Given the description of an element on the screen output the (x, y) to click on. 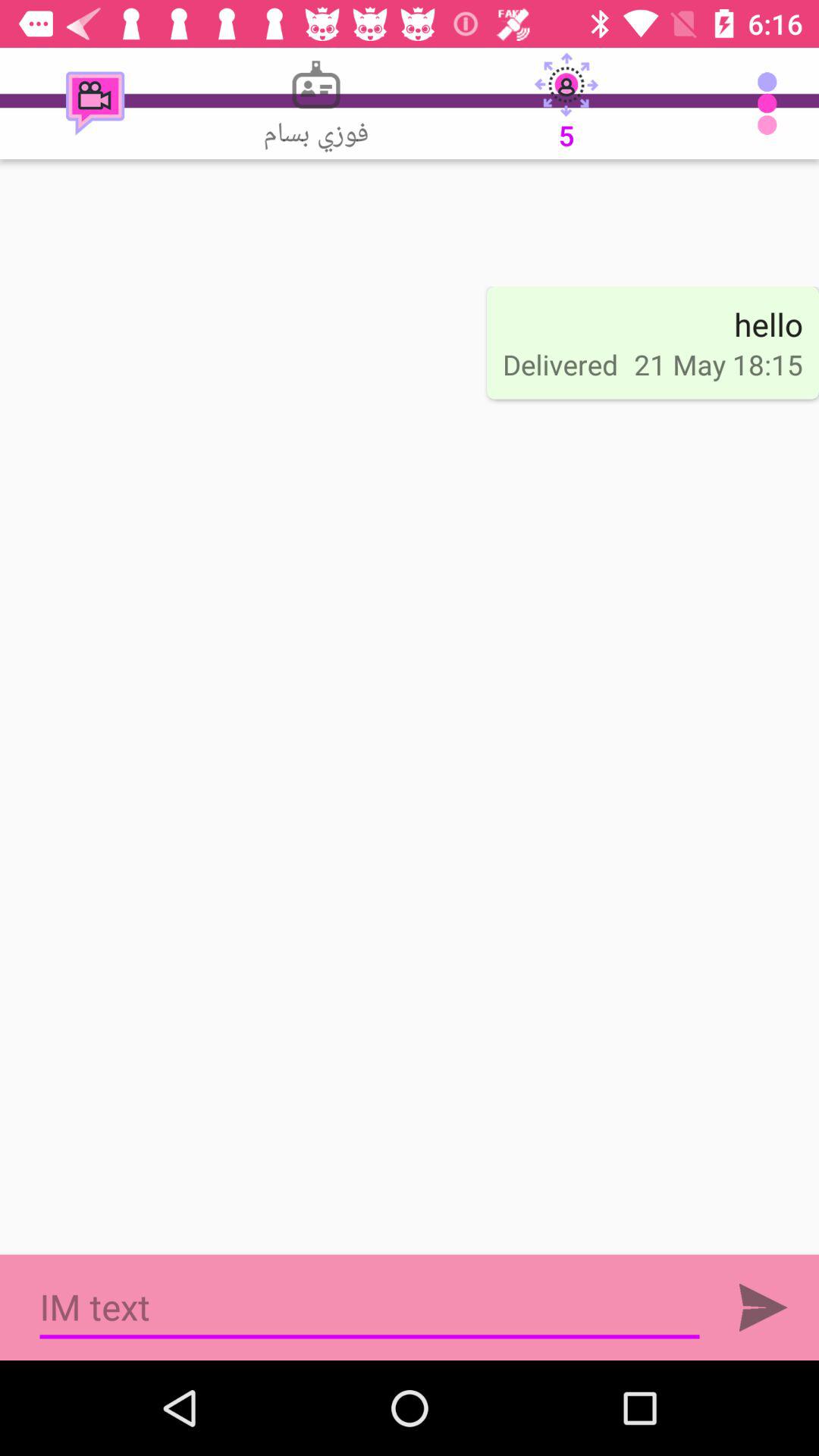
turn off icon at the bottom right corner (763, 1307)
